Given the description of an element on the screen output the (x, y) to click on. 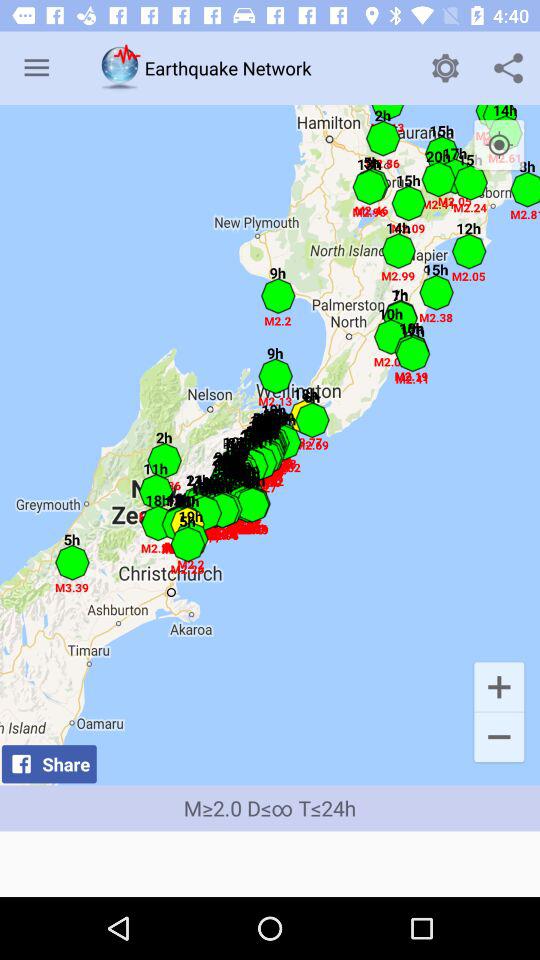
select icon next to share icon (498, 738)
